Given the description of an element on the screen output the (x, y) to click on. 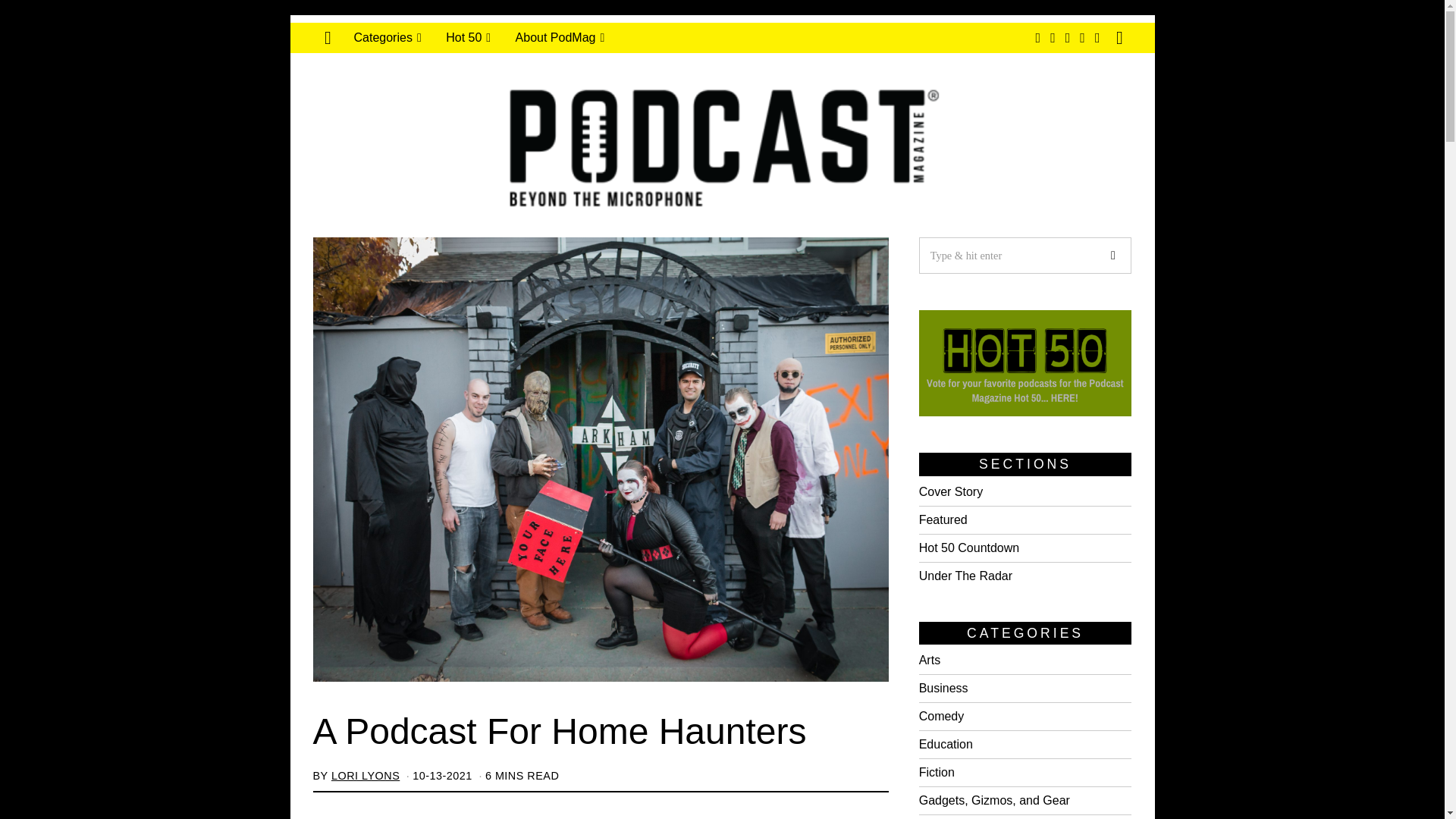
Hot 50 (467, 37)
Go (1112, 254)
Categories (386, 37)
LORI LYONS (364, 775)
About PodMag (560, 37)
